Given the description of an element on the screen output the (x, y) to click on. 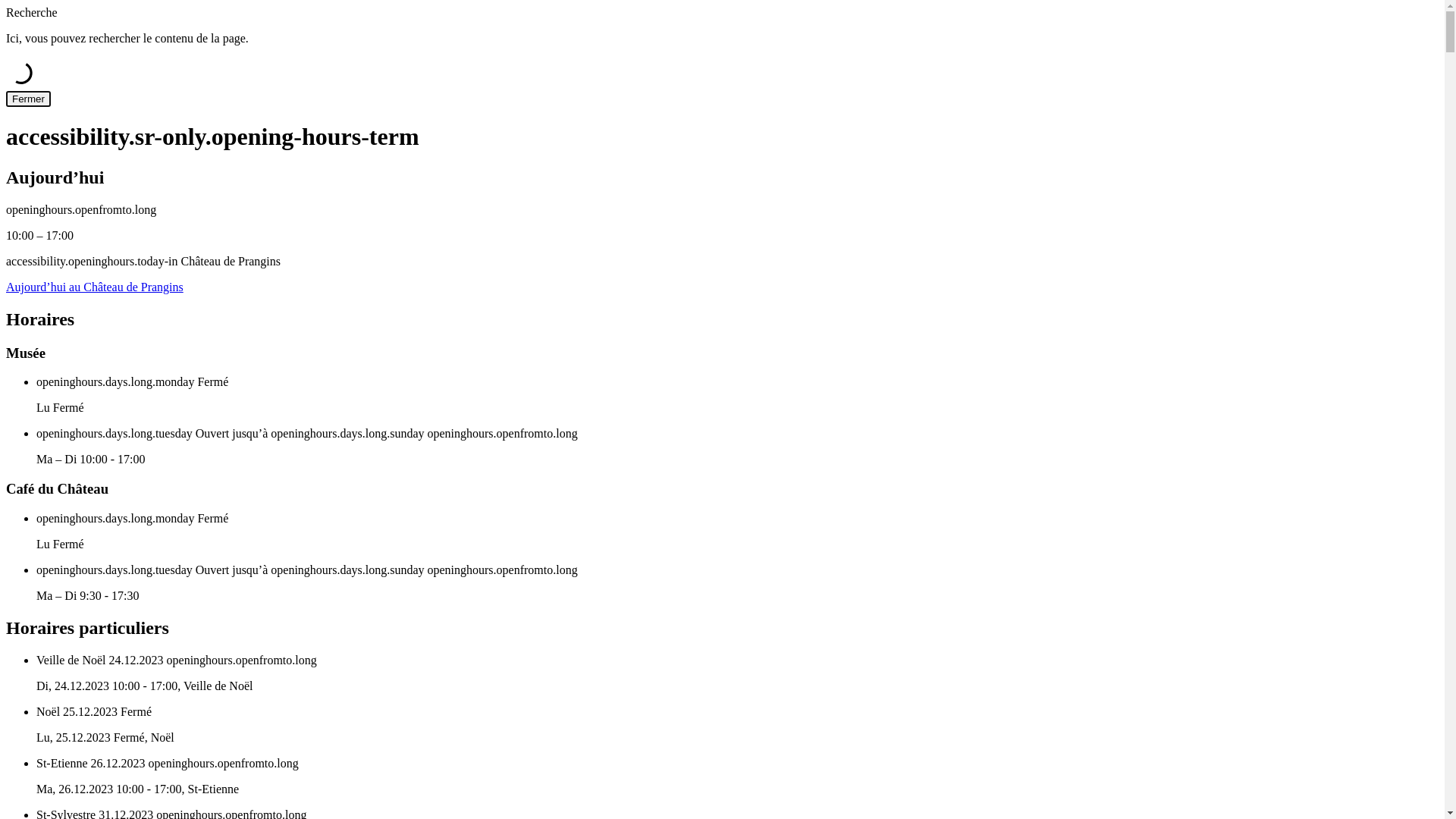
Fermer Element type: text (28, 98)
